Given the description of an element on the screen output the (x, y) to click on. 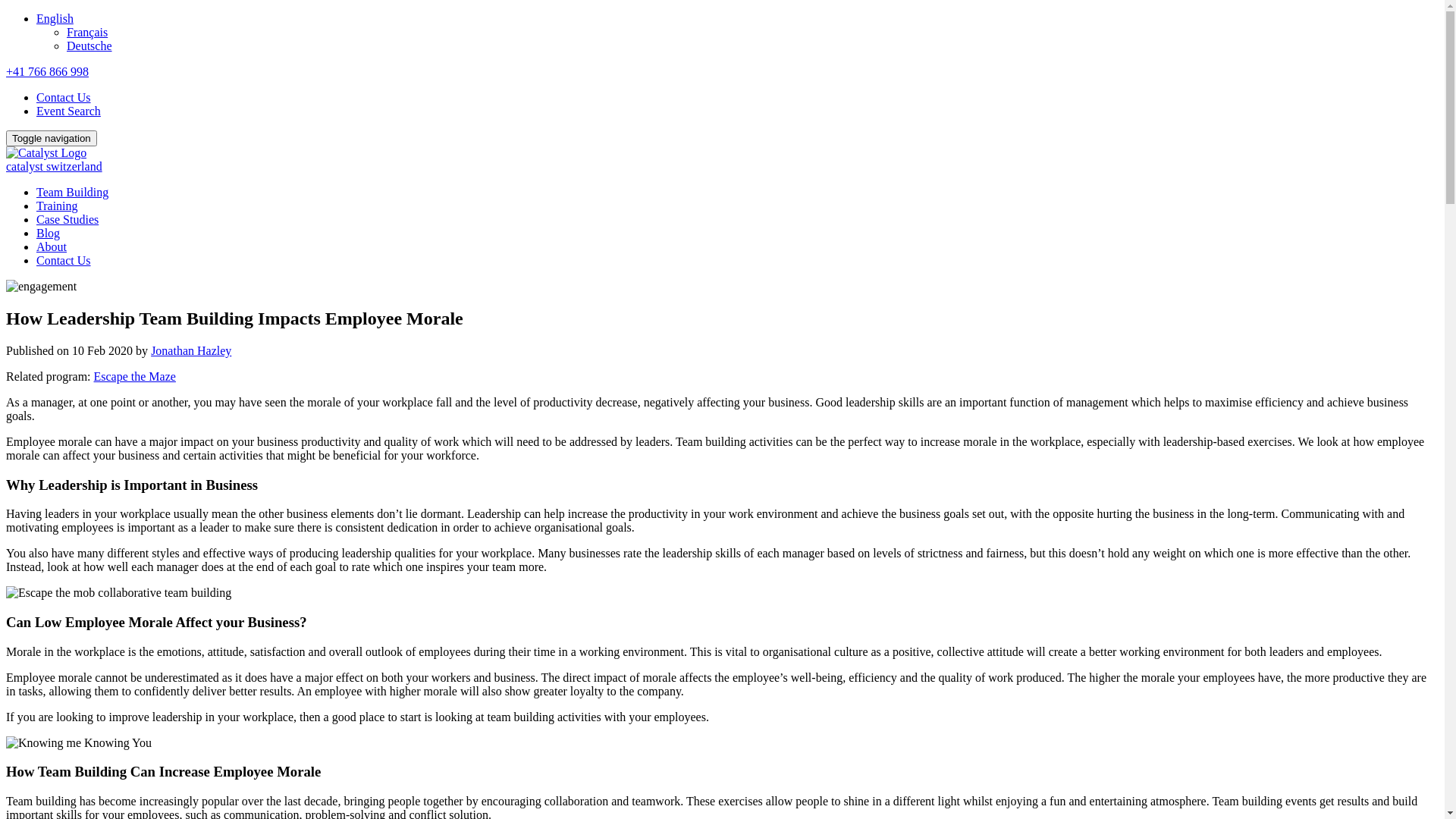
English Element type: text (54, 18)
Blog Element type: text (47, 232)
Team Building Element type: text (72, 191)
+41 766 866 998 Element type: text (47, 71)
Training Element type: text (57, 205)
Case Studies Element type: text (67, 219)
Contact Us Element type: text (63, 97)
catalyst switzerland Element type: text (722, 167)
About Element type: text (51, 246)
Toggle navigation Element type: text (51, 138)
Contact Us Element type: text (63, 260)
Escape the Maze Element type: text (134, 376)
Jonathan Hazley Element type: text (190, 350)
Deutsche Element type: text (89, 45)
Event Search Element type: text (68, 110)
